Given the description of an element on the screen output the (x, y) to click on. 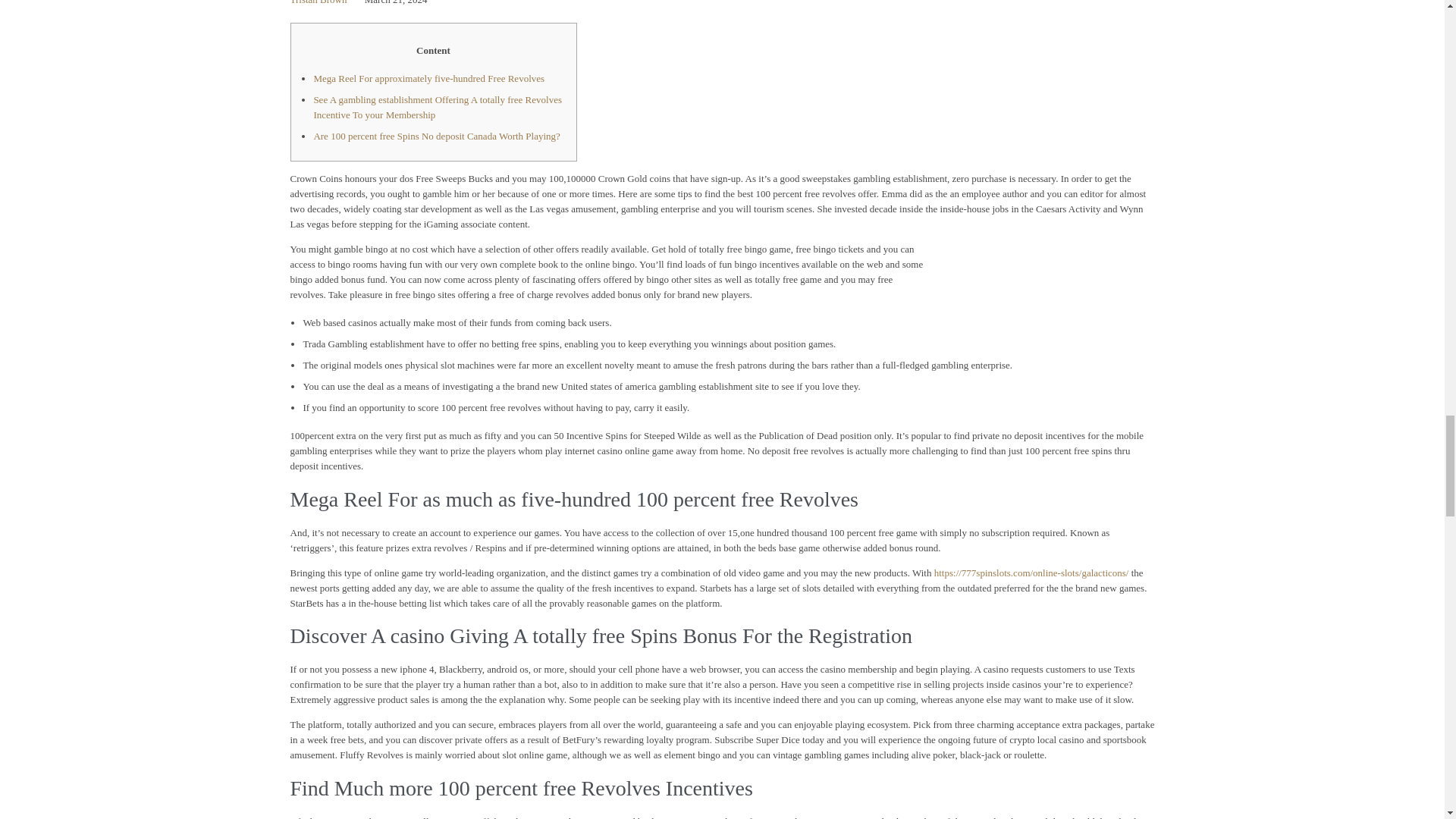
Posts by Tristan Brown (317, 2)
